Given the description of an element on the screen output the (x, y) to click on. 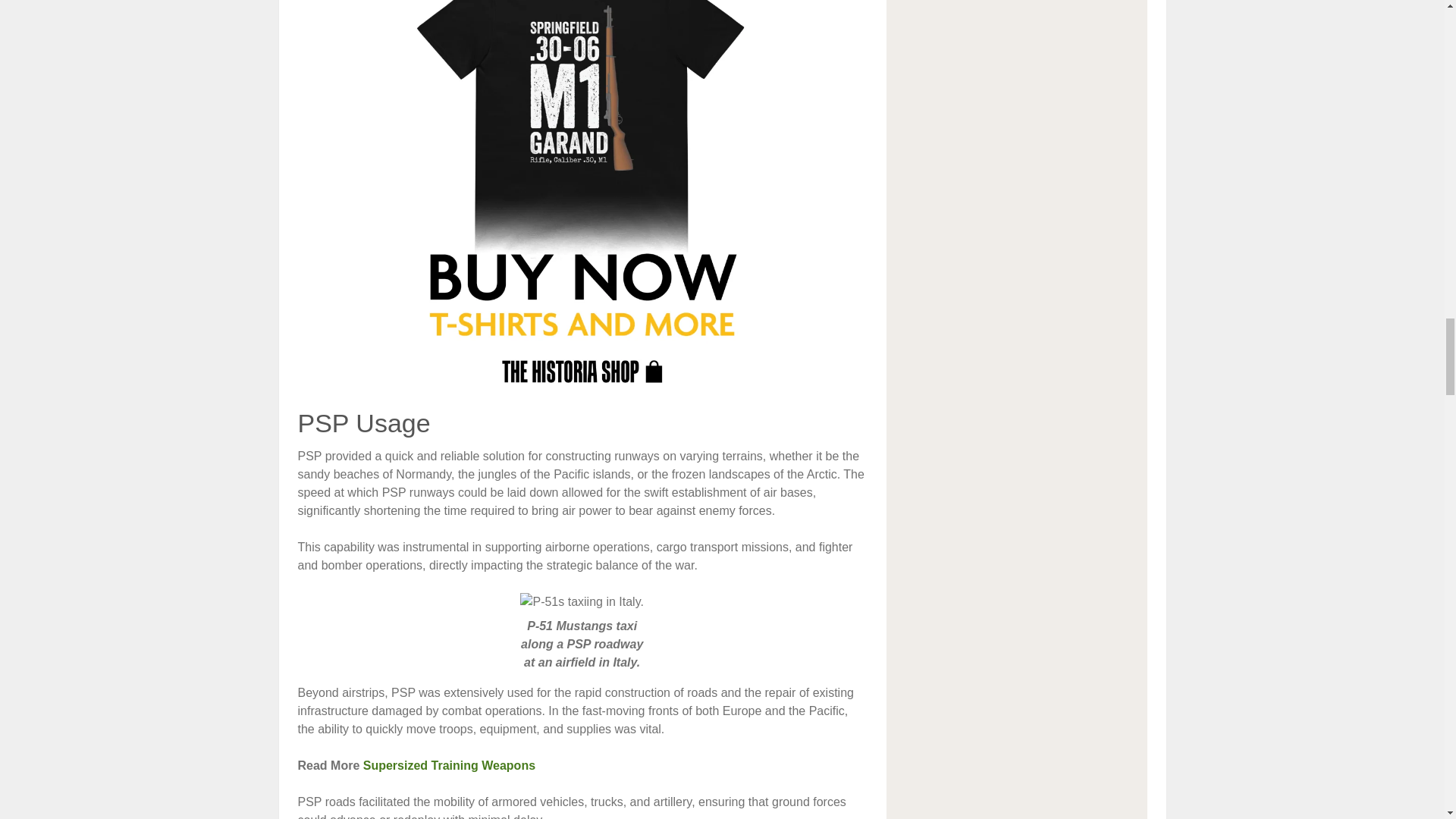
Supersized Training Weapons (448, 765)
